Given the description of an element on the screen output the (x, y) to click on. 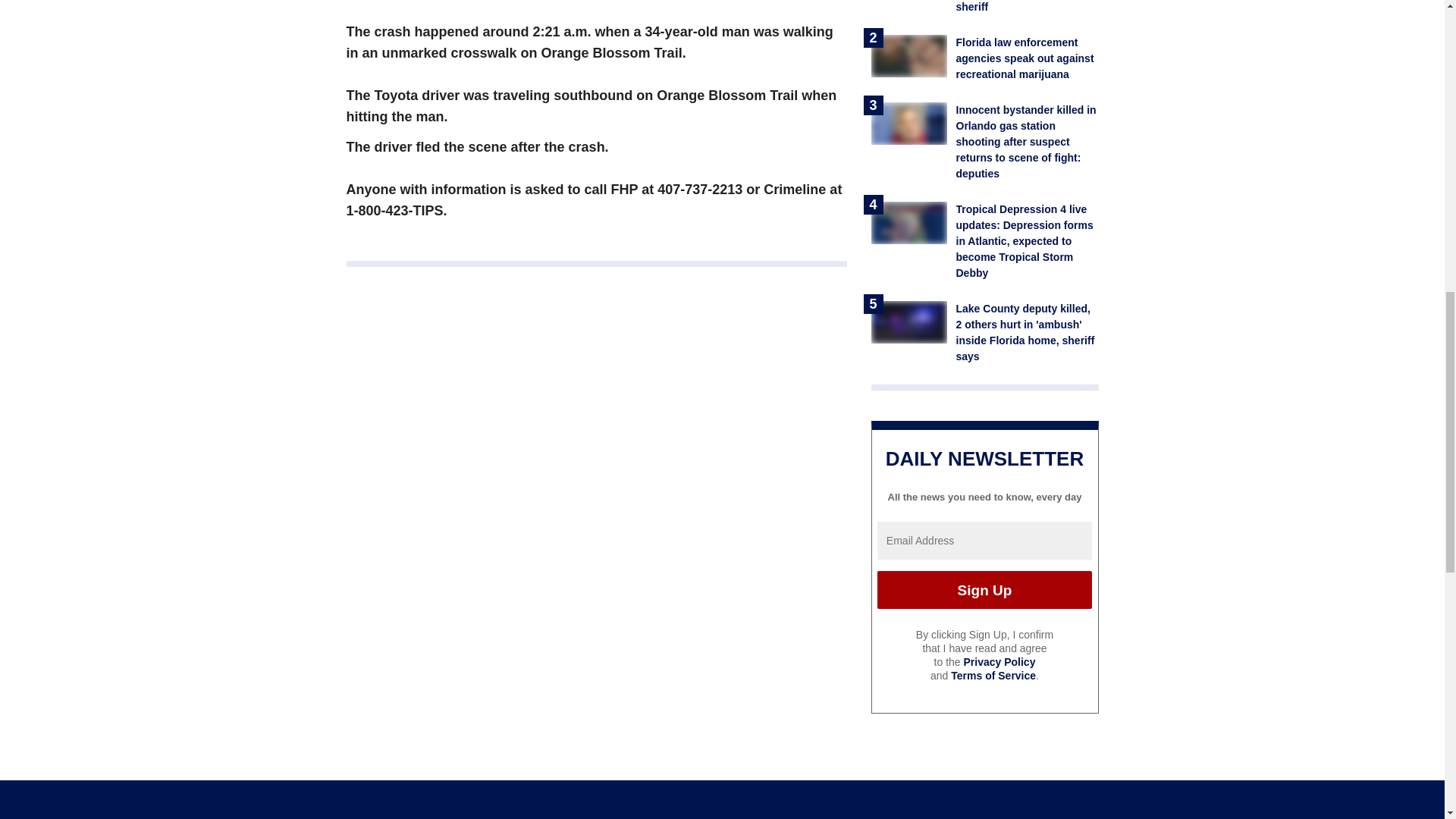
Sign Up (984, 589)
